Given the description of an element on the screen output the (x, y) to click on. 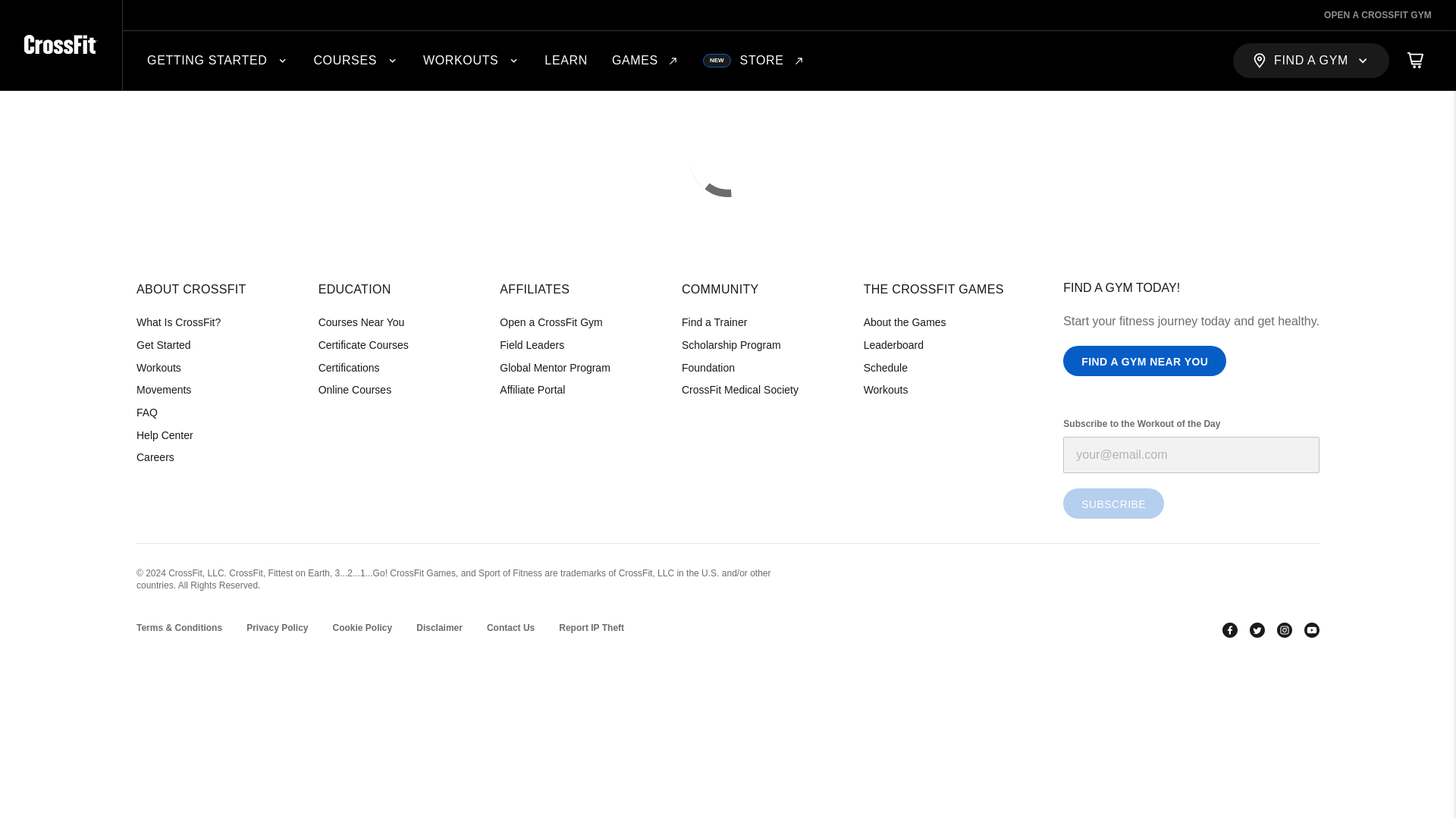
Field Leaders (578, 345)
Movements (215, 390)
Help Center (215, 435)
Certifications (397, 368)
Affiliate Portal (578, 390)
GAMES (754, 60)
Workouts (644, 60)
WORKOUTS (215, 368)
Online Courses (471, 60)
